Given the description of an element on the screen output the (x, y) to click on. 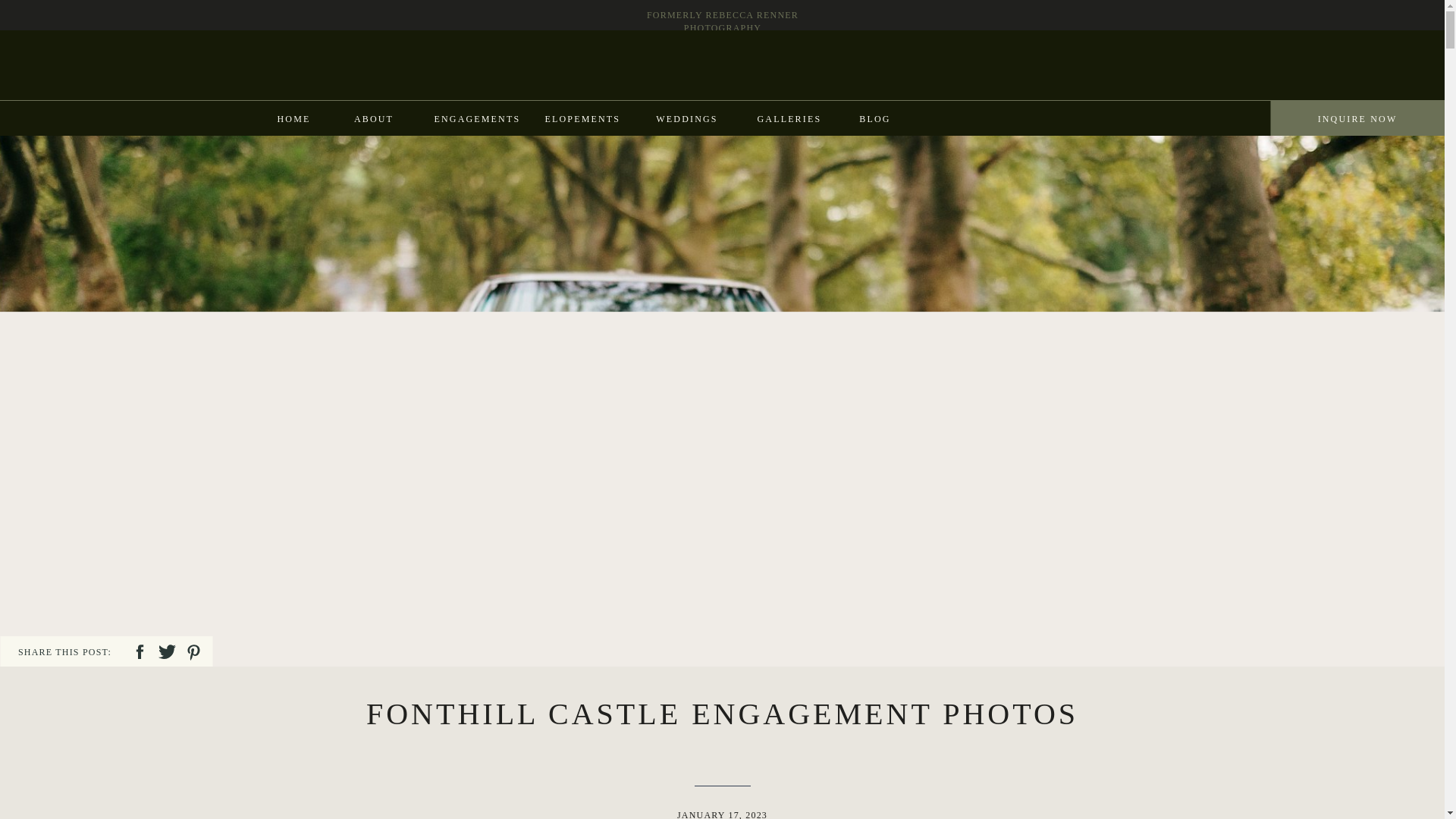
ELOPEMENTS (580, 118)
ABOUT (372, 118)
ENGAGEMENTS (474, 118)
WEDDINGS (686, 118)
HOME (294, 118)
GALLERIES (788, 118)
INQUIRE NOW (1356, 118)
BLOG (874, 118)
